Given the description of an element on the screen output the (x, y) to click on. 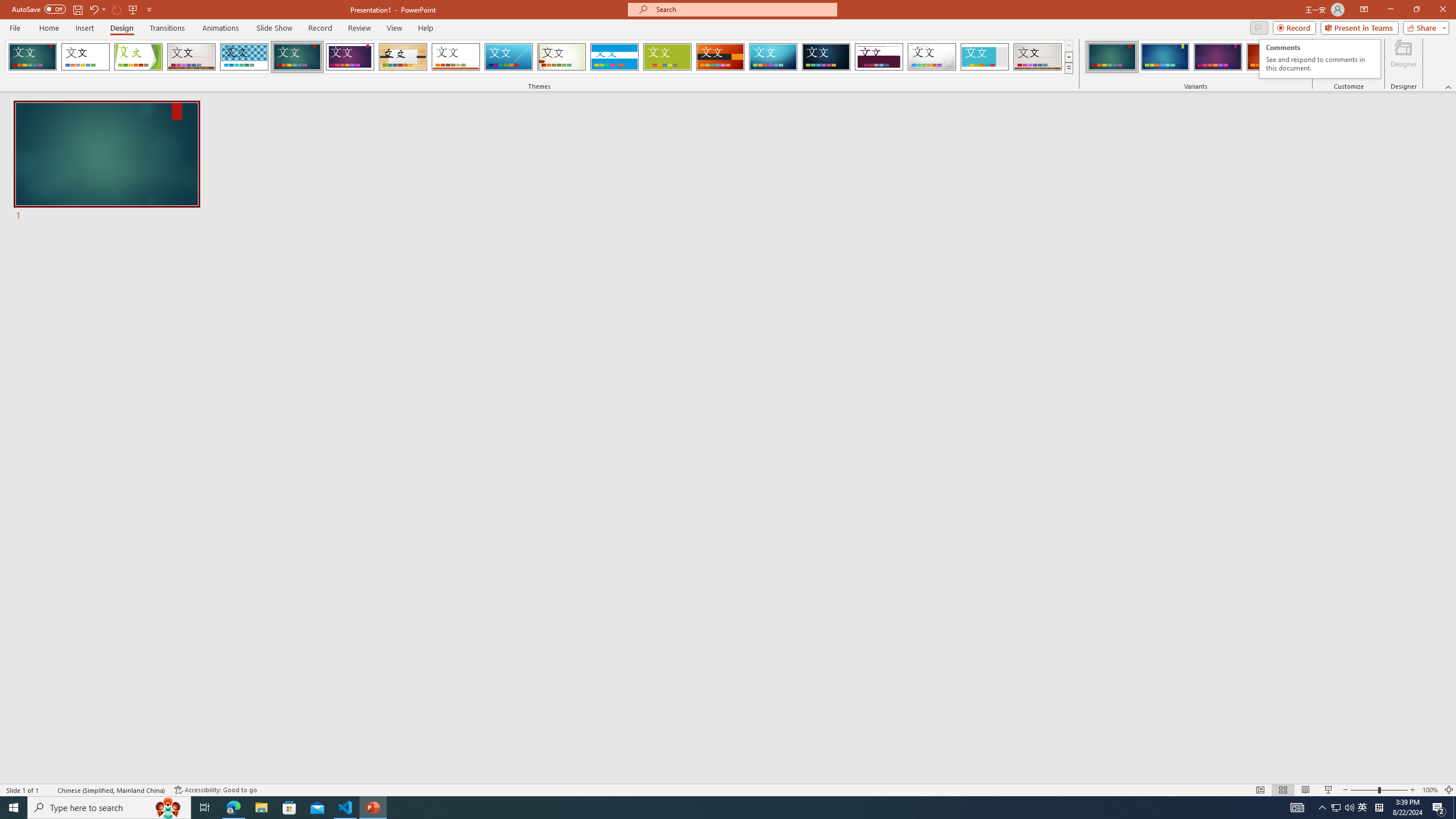
Berlin Loading Preview... (720, 56)
Circuit Loading Preview... (772, 56)
AutomationID: ThemeVariantsGallery (1195, 56)
Slide Size (1328, 58)
Gallery Loading Preview... (1037, 56)
Variants (1301, 67)
